Given the description of an element on the screen output the (x, y) to click on. 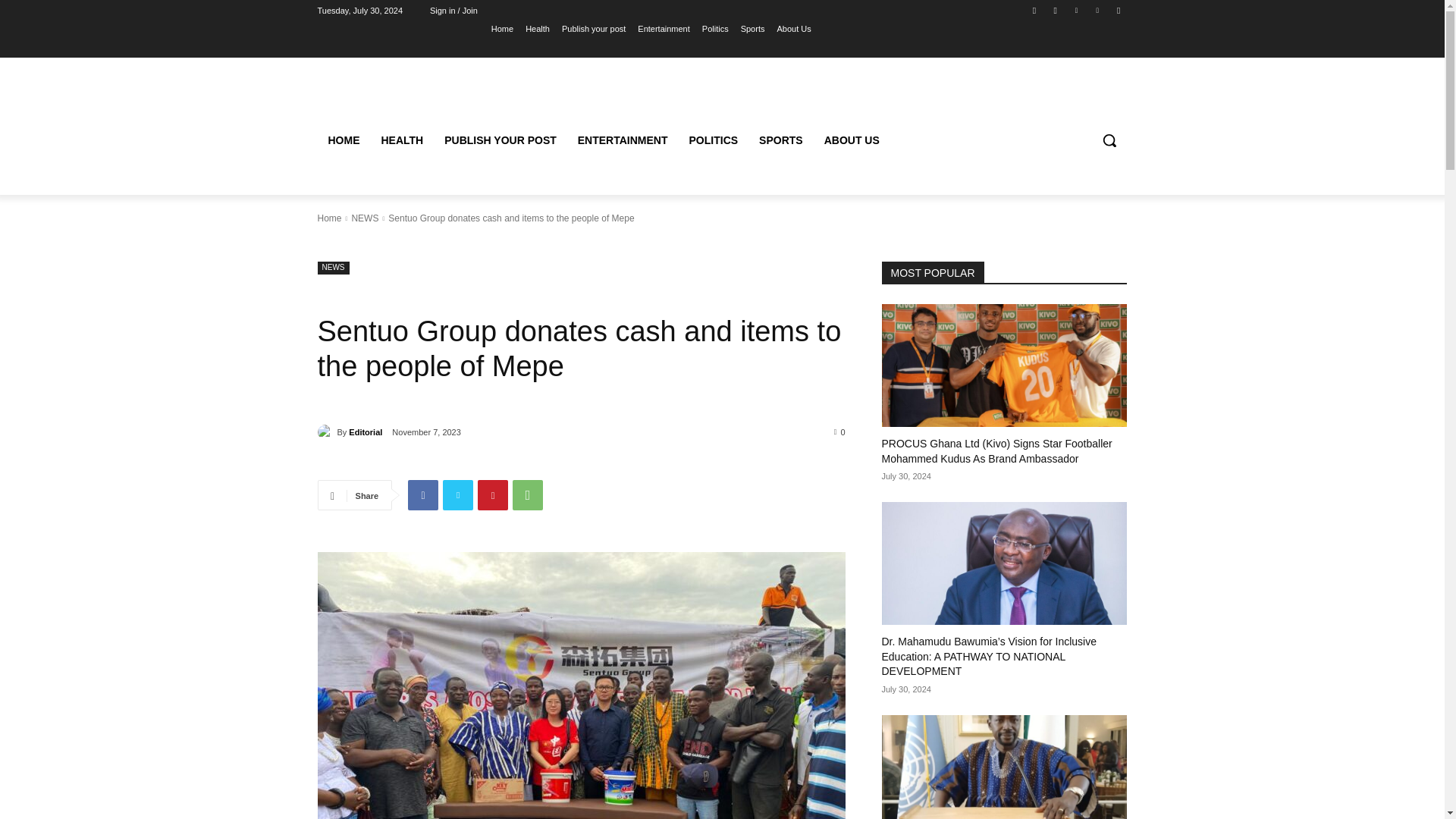
Instagram (1055, 9)
View all posts in NEWS (364, 217)
Entertainment (662, 28)
SPORTS (780, 140)
ENTERTAINMENT (622, 140)
Sports (753, 28)
Publish your post (594, 28)
Twitter (1075, 9)
Pinterest (492, 494)
ABOUT US (851, 140)
Twitter (457, 494)
Politics (715, 28)
PUBLISH YOUR POST (500, 140)
HOME (343, 140)
Vimeo (1097, 9)
